Given the description of an element on the screen output the (x, y) to click on. 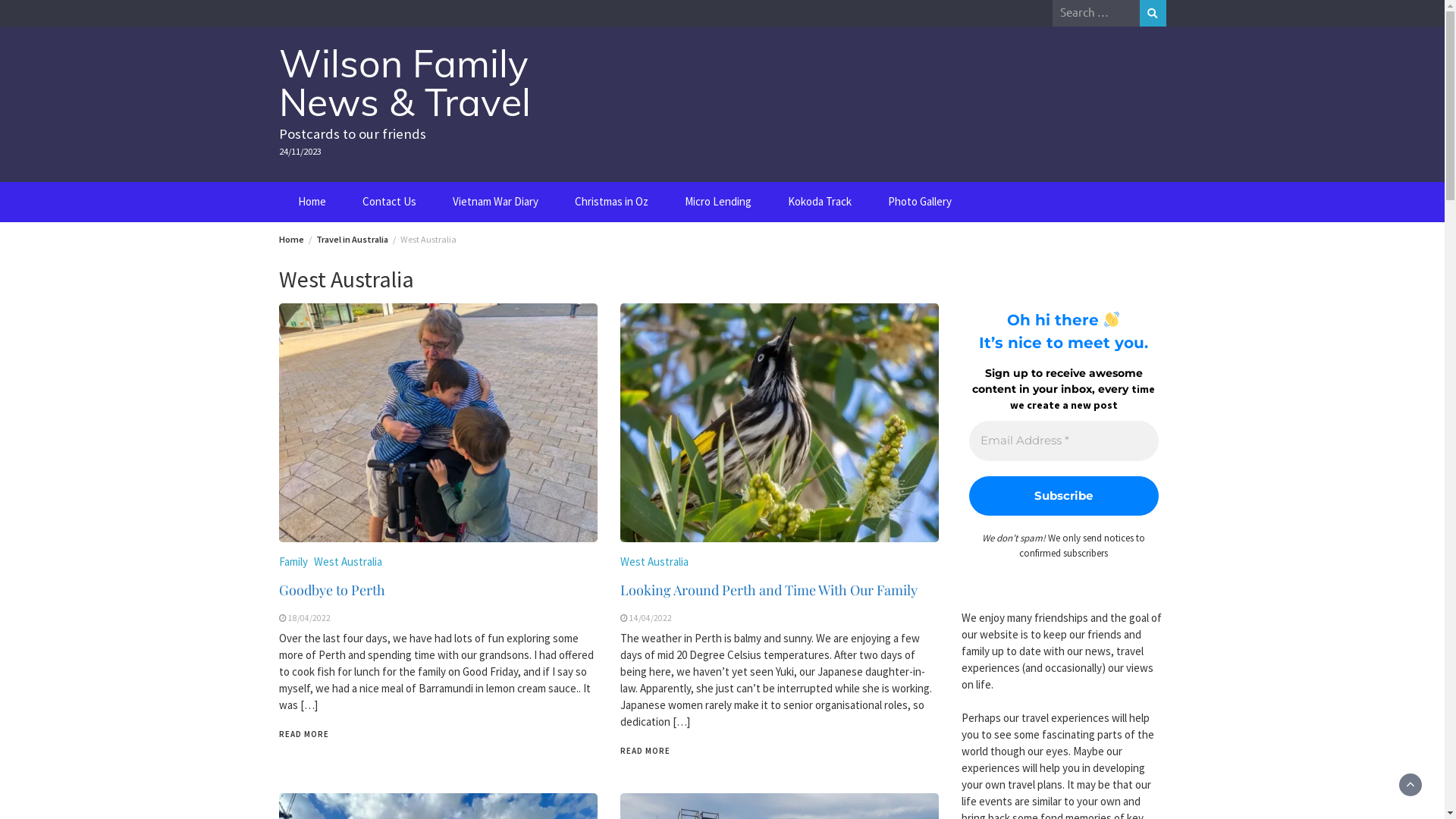
READ MORE Element type: text (304, 733)
West Australia Element type: text (654, 561)
Christmas in Oz Element type: text (611, 202)
Search Element type: text (1152, 13)
READ MORE Element type: text (645, 750)
Family Element type: text (293, 561)
Contact Us Element type: text (389, 202)
Vietnam War Diary Element type: text (494, 202)
Looking Around Perth and Time With Our Family Element type: text (768, 589)
18/04/2022 Element type: text (309, 617)
Wilson Family News & Travel Element type: text (404, 82)
West Australia Element type: text (347, 561)
Search for: Element type: hover (1095, 12)
Home Element type: text (311, 202)
Subscribe Element type: text (1063, 496)
14/04/2022 Element type: text (650, 617)
Travel in Australia Element type: text (352, 238)
Kokoda Track Element type: text (818, 202)
Photo Gallery Element type: text (919, 202)
Micro Lending Element type: text (716, 202)
Email Address Element type: hover (1063, 440)
Goodbye to Perth Element type: text (332, 589)
Home Element type: text (291, 238)
